Given the description of an element on the screen output the (x, y) to click on. 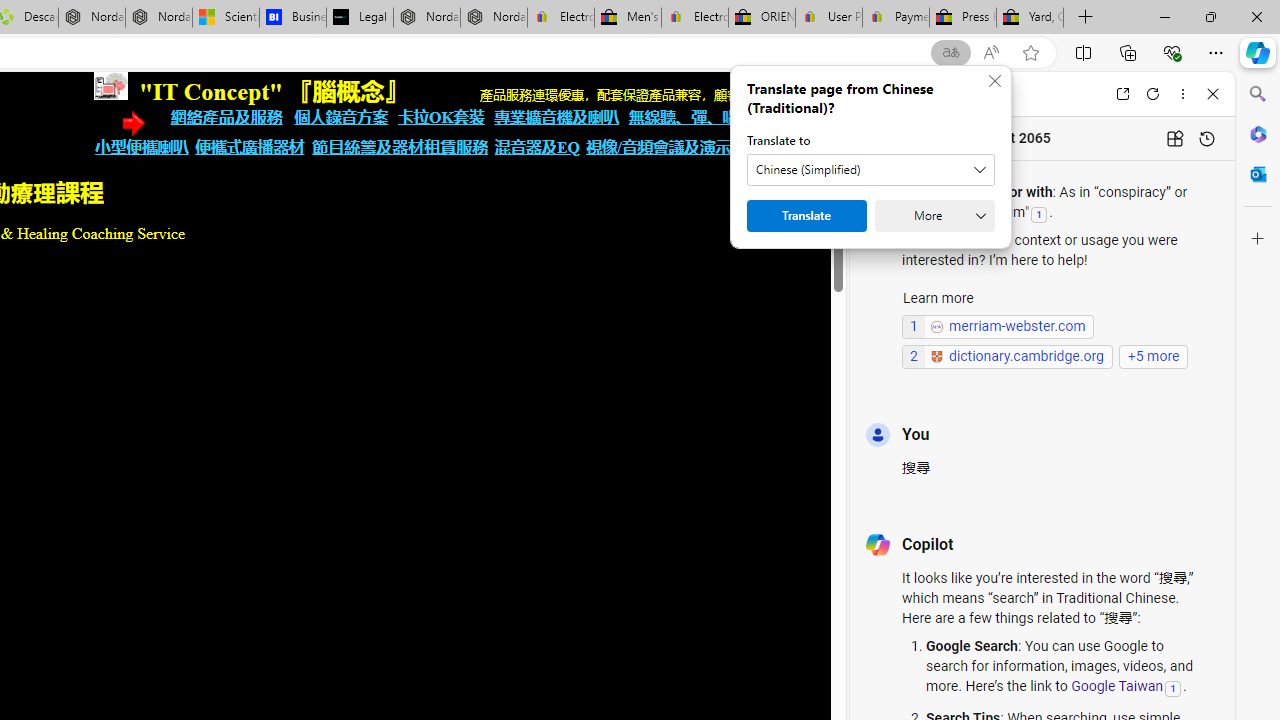
Compose (971, 93)
Minimize Search pane (1258, 94)
Translate to (870, 169)
